Given the description of an element on the screen output the (x, y) to click on. 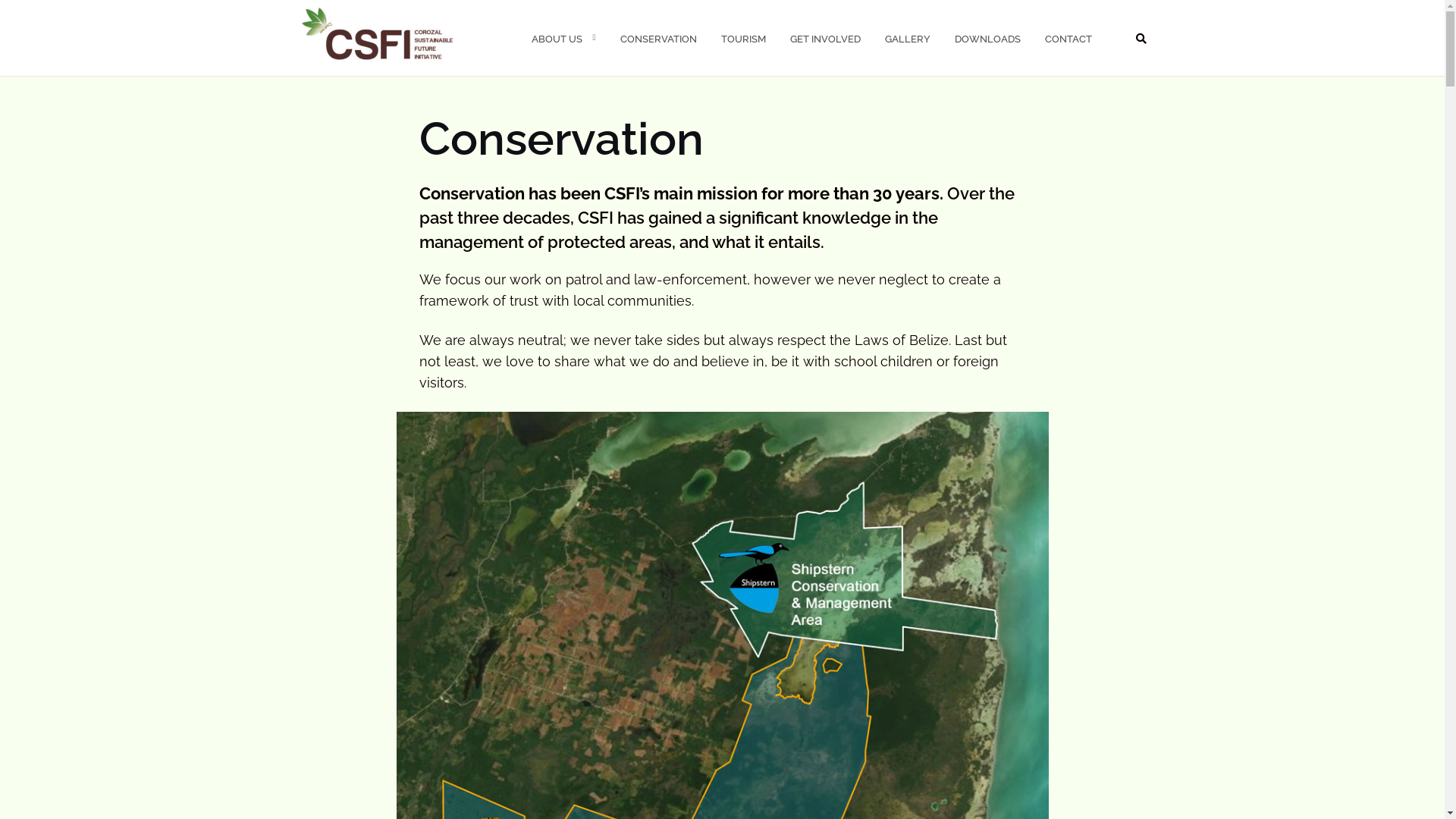
CONSERVATION Element type: text (658, 38)
DOWNLOADS Element type: text (986, 38)
ABOUT US Element type: text (555, 38)
GET INVOLVED Element type: text (825, 38)
TOURISM Element type: text (742, 38)
CONTACT Element type: text (1068, 38)
GALLERY Element type: text (906, 38)
